Given the description of an element on the screen output the (x, y) to click on. 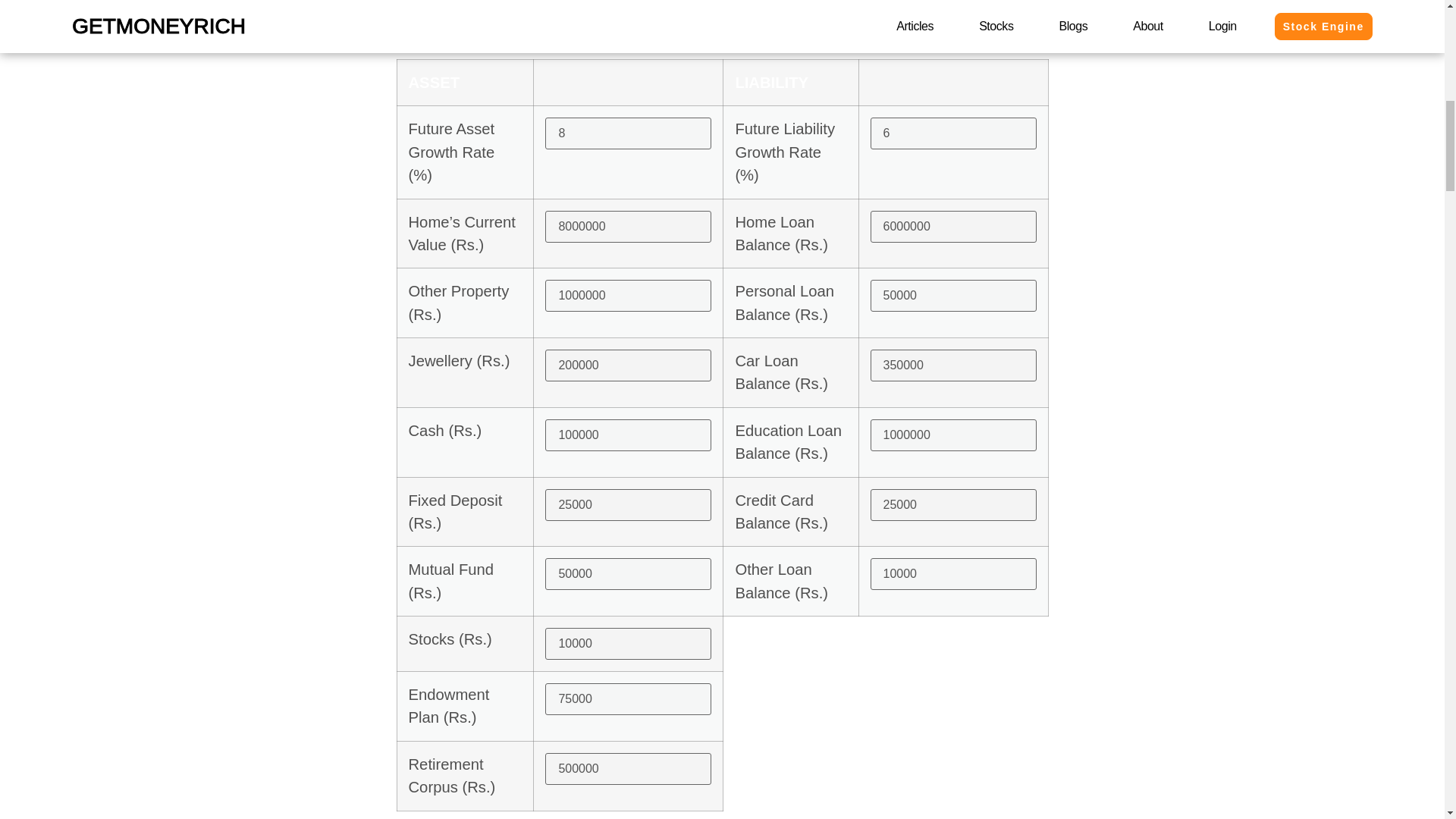
350000 (953, 365)
25000 (953, 504)
6 (953, 133)
8000000 (627, 226)
50000 (627, 573)
1000000 (953, 435)
75000 (627, 698)
6000000 (953, 226)
50000 (953, 296)
10000 (953, 573)
8 (627, 133)
1000000 (627, 296)
100000 (627, 435)
200000 (627, 365)
25000 (627, 504)
